Given the description of an element on the screen output the (x, y) to click on. 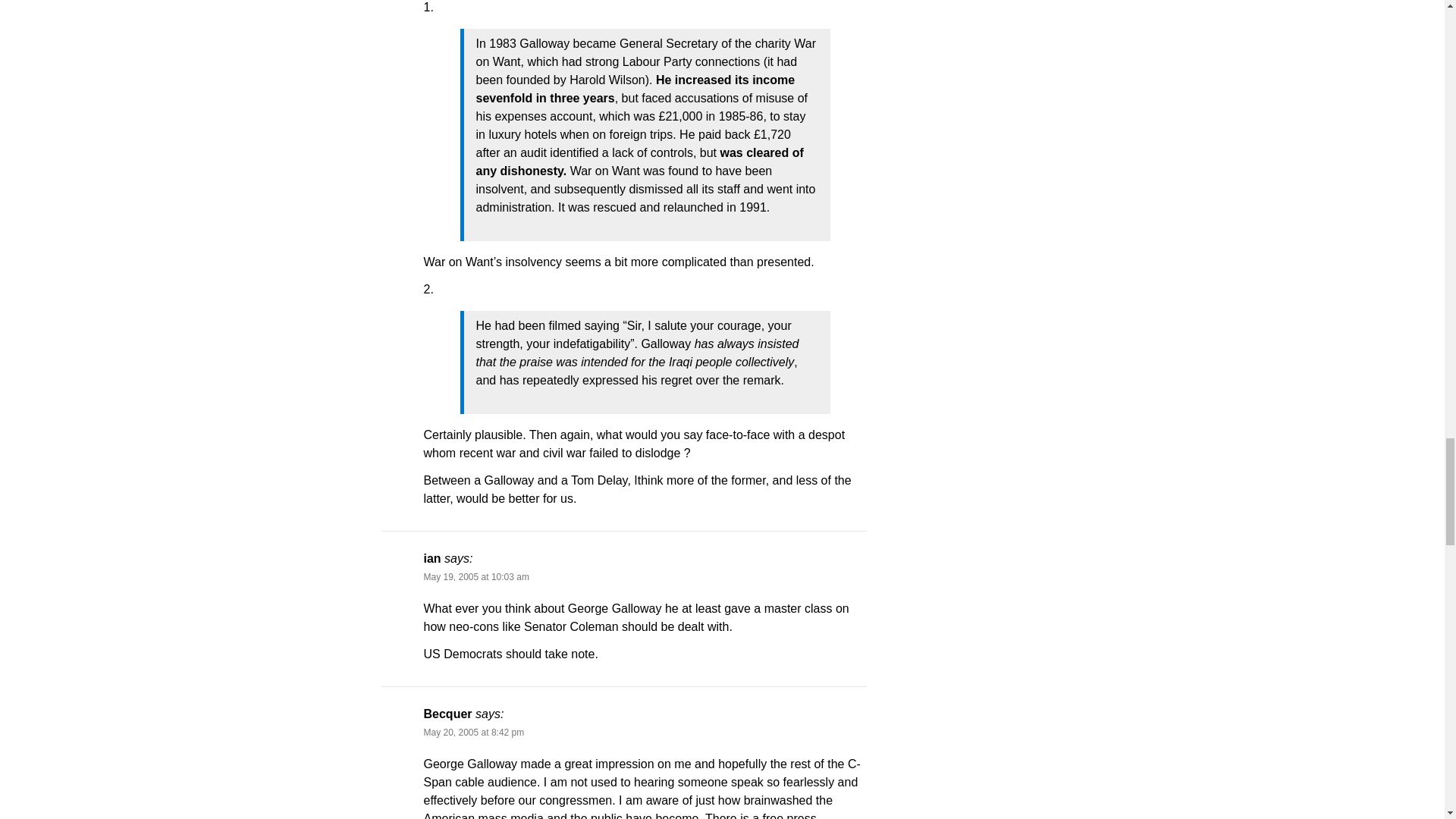
May 19, 2005 at 10:03 am (475, 576)
